Given the description of an element on the screen output the (x, y) to click on. 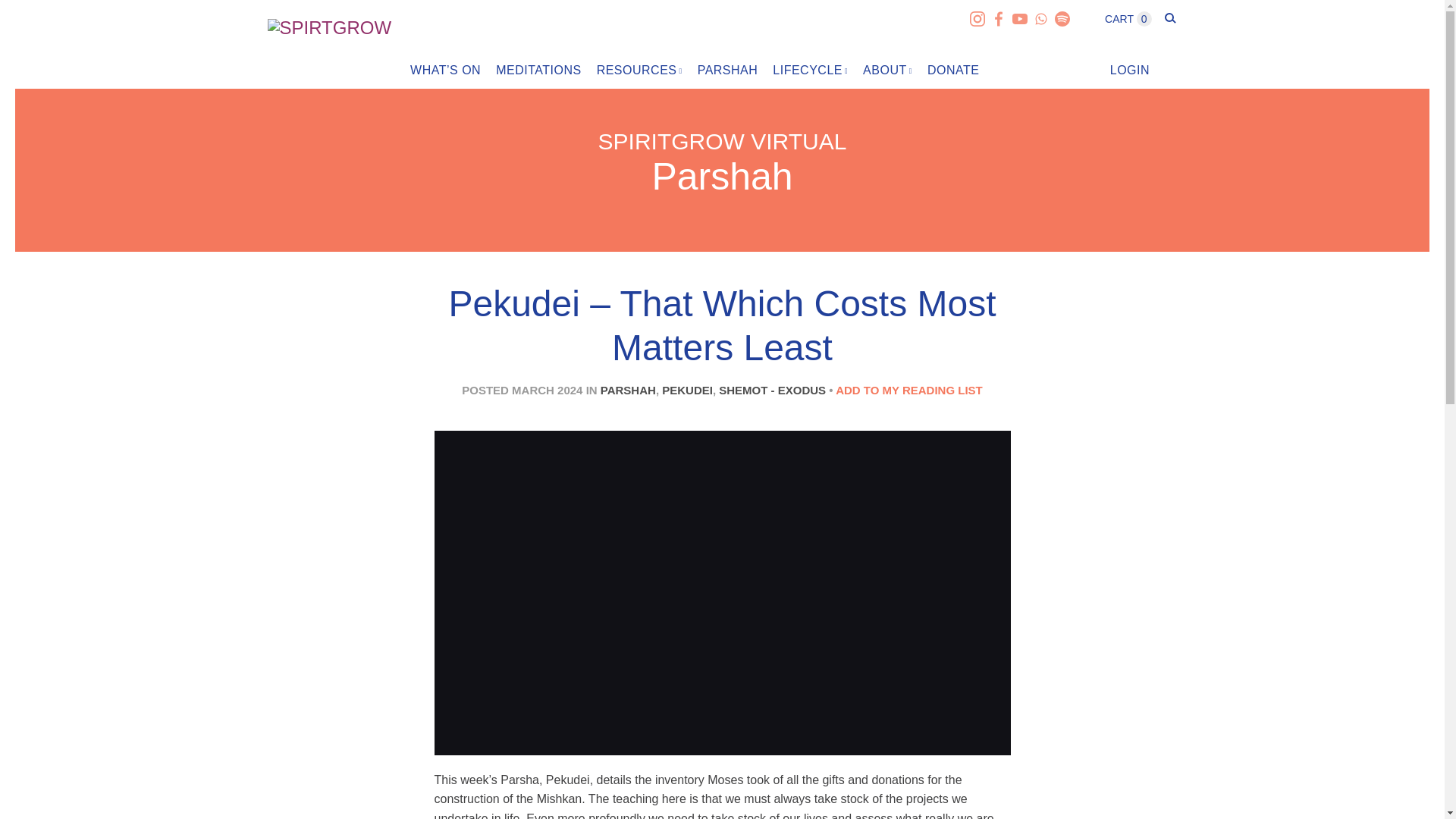
ADD TO MY READING LIST (908, 390)
SHEMOT - EXODUS (772, 390)
PARSHAH (727, 70)
DONATE (952, 70)
MEDITATIONS (538, 70)
CART 0 (1130, 19)
Skip to content (467, 66)
Parshah (721, 176)
LOGIN (1129, 70)
RESOURCES (639, 70)
